Given the description of an element on the screen output the (x, y) to click on. 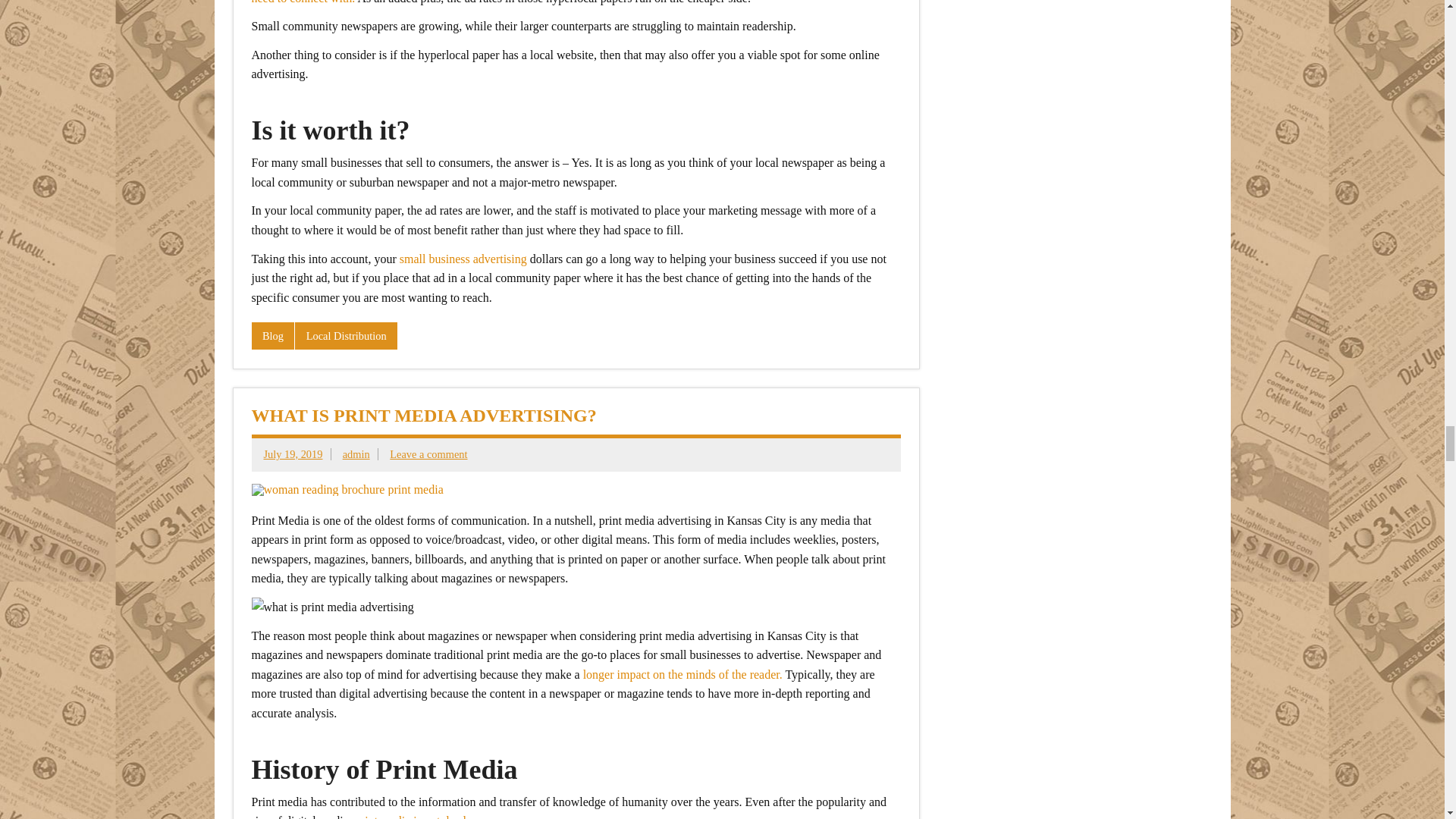
12:10 am (293, 453)
View all posts by admin (355, 453)
